Given the description of an element on the screen output the (x, y) to click on. 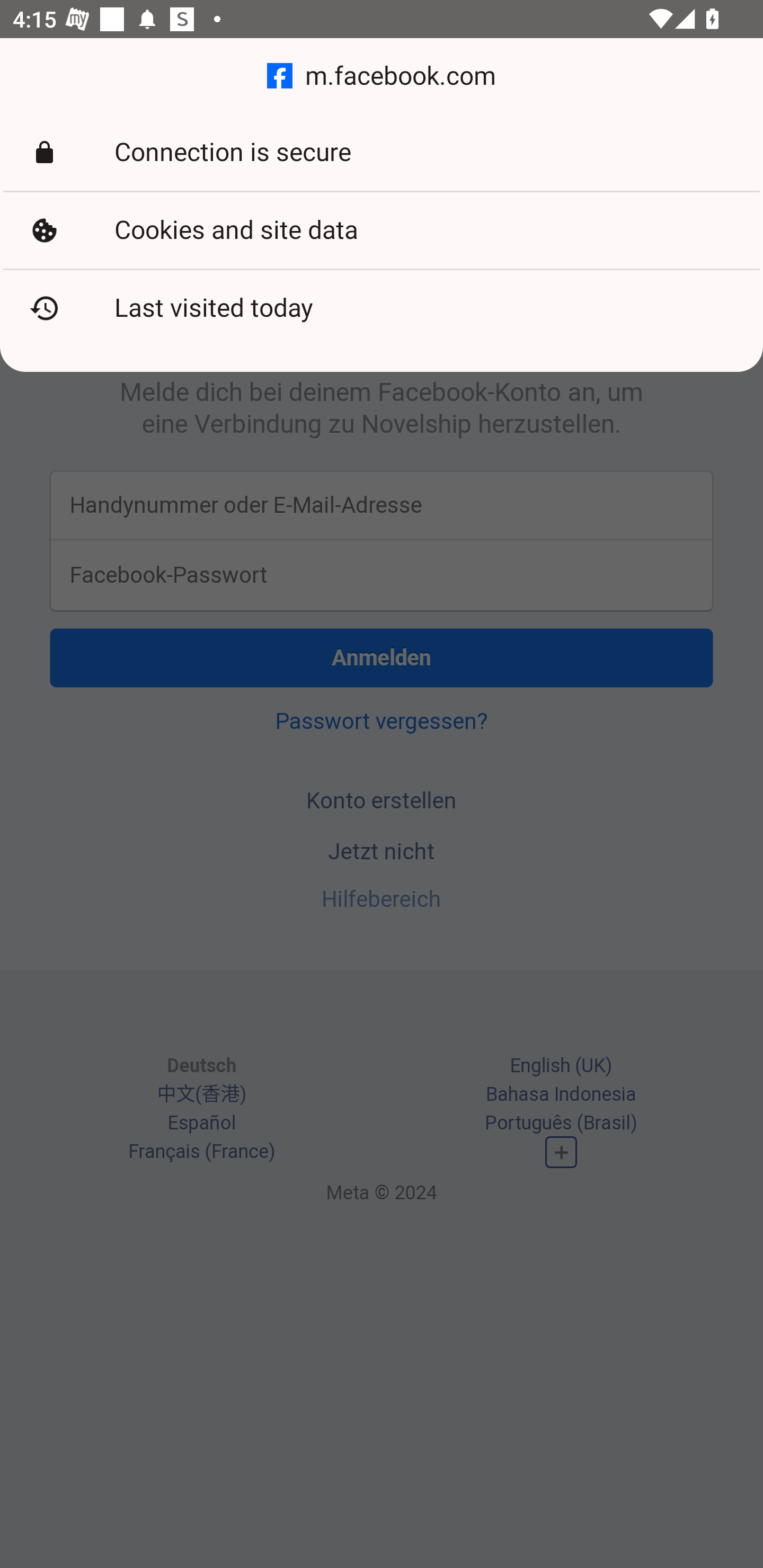
m.facebook.com (381, 75)
Connection is secure (381, 152)
Cookies and site data (381, 230)
Last visited today (381, 307)
